Given the description of an element on the screen output the (x, y) to click on. 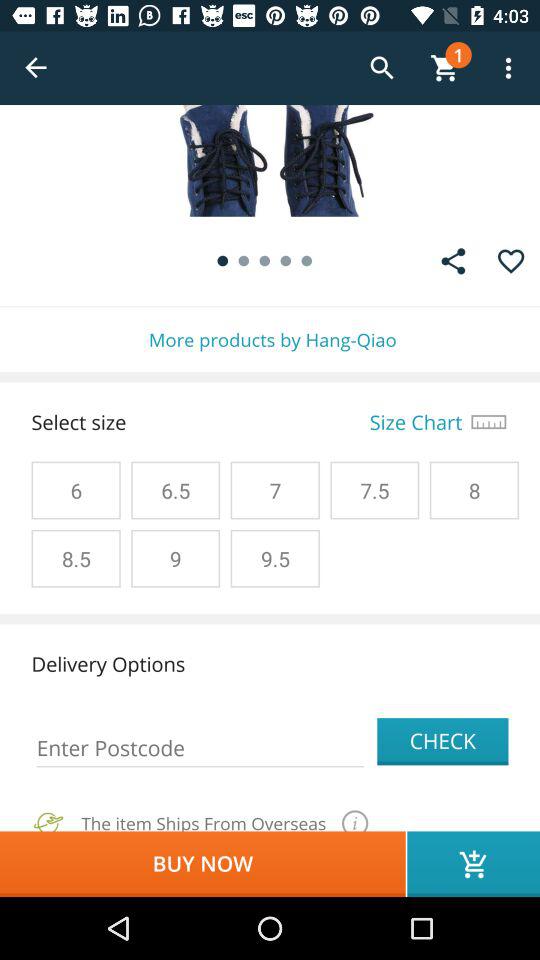
share (453, 261)
